Given the description of an element on the screen output the (x, y) to click on. 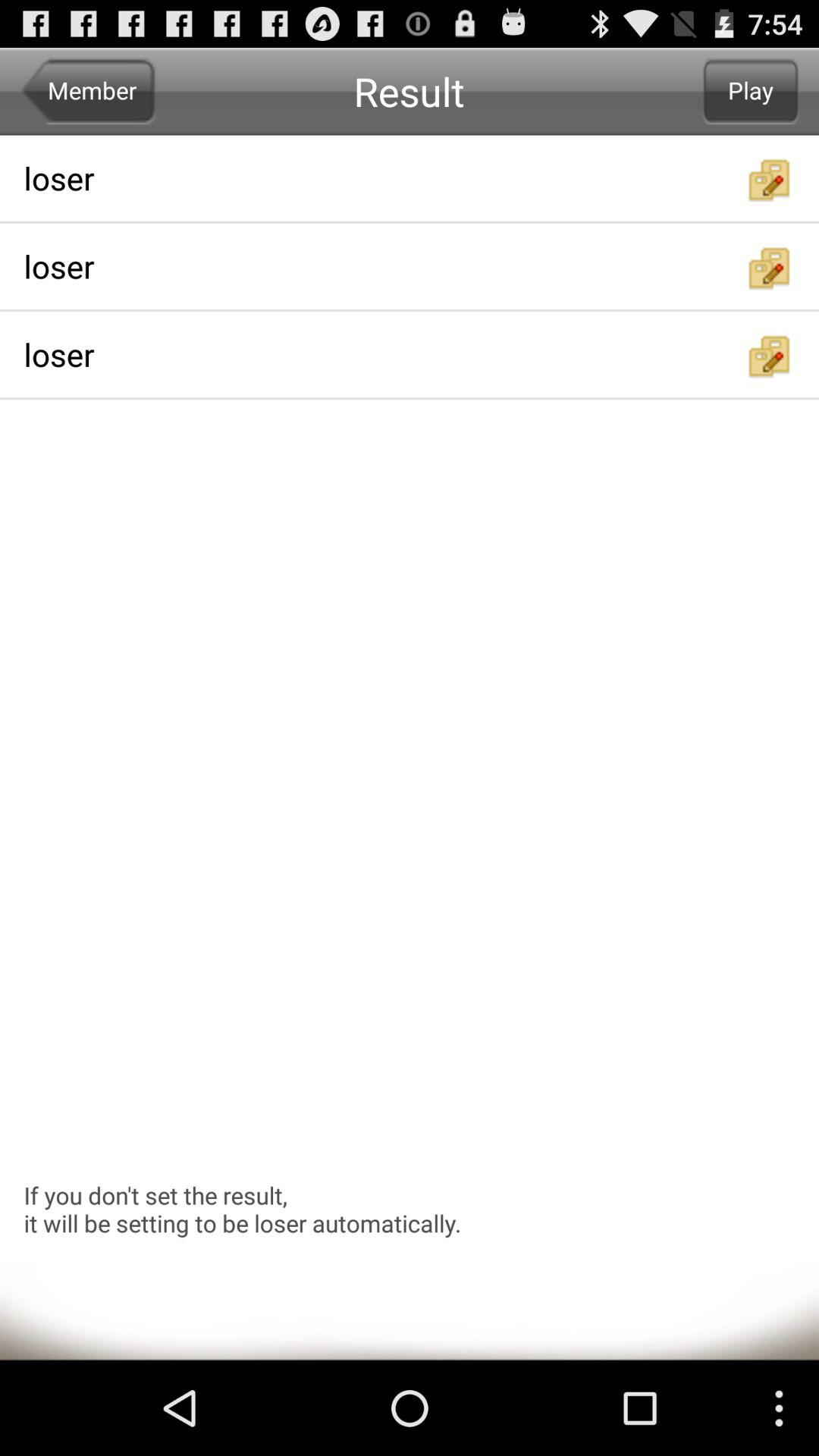
turn on icon to the left of result app (87, 91)
